Given the description of an element on the screen output the (x, y) to click on. 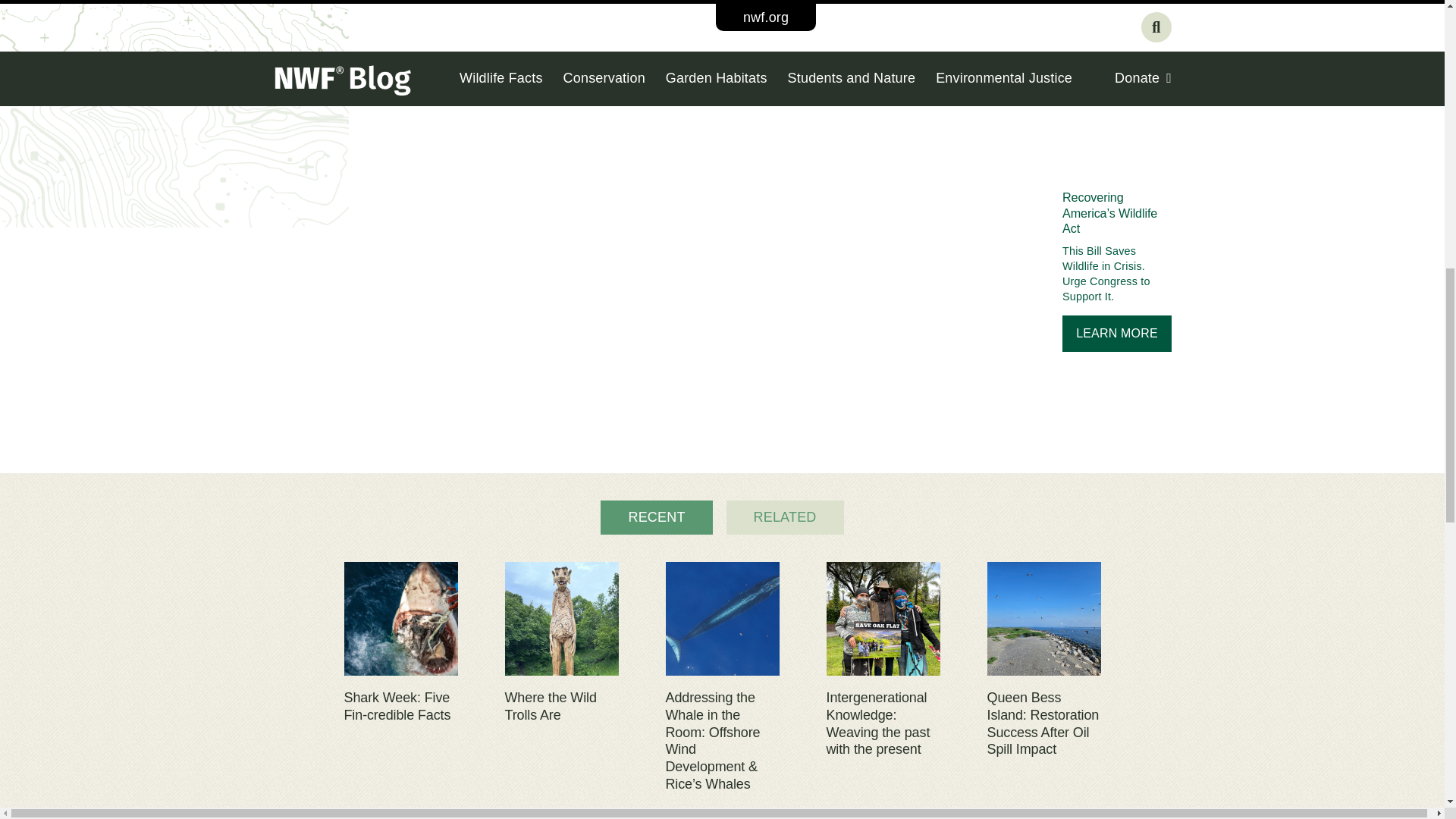
Shark Week: Five Fin-credible Facts (400, 706)
RELATED (785, 517)
RECENT (655, 517)
LEARN MORE (1117, 333)
